Given the description of an element on the screen output the (x, y) to click on. 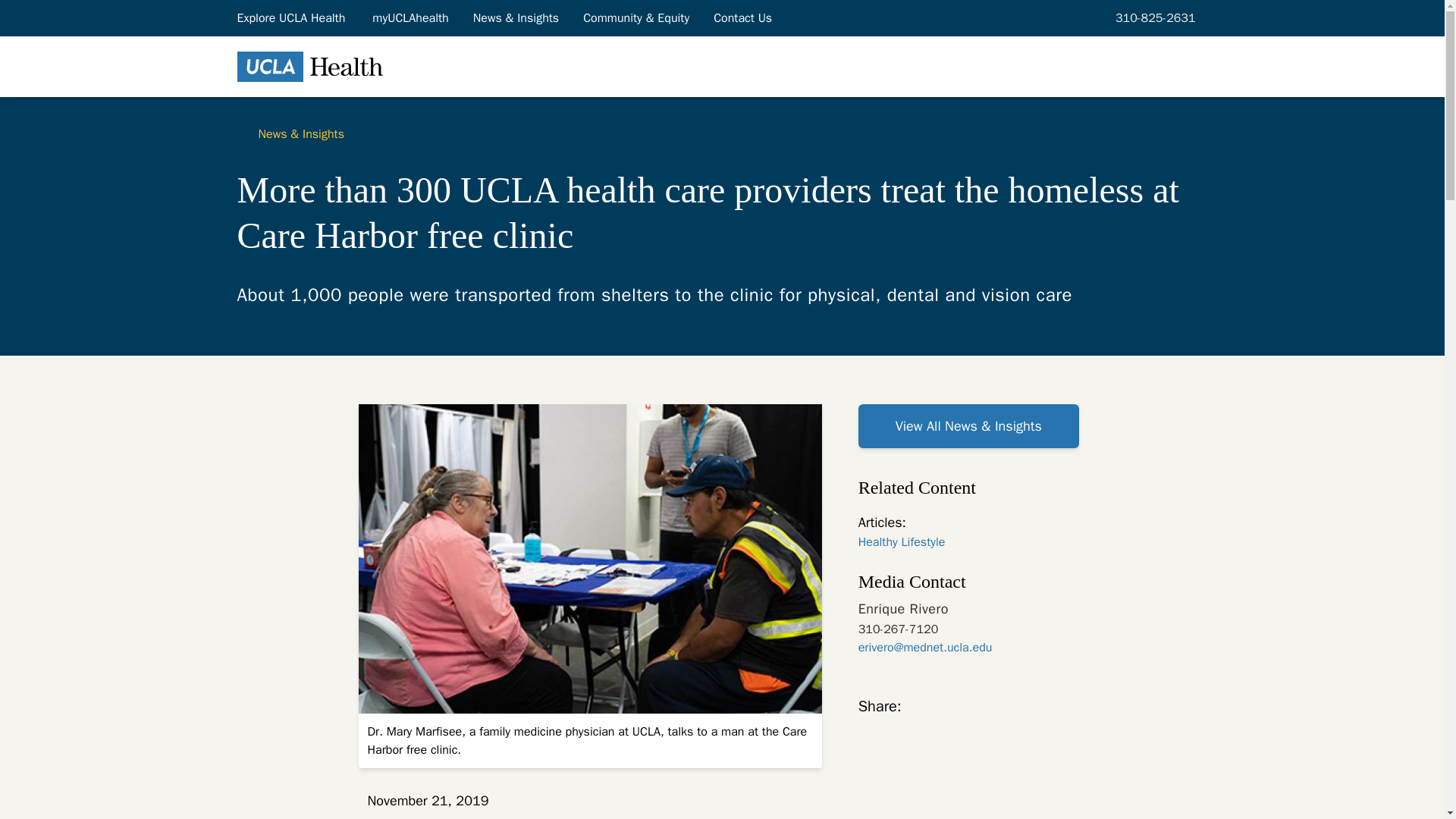
myUCLAhealth Login. (409, 17)
310-825-2631 (1152, 17)
Contact Us (742, 17)
myUCLAhealth (409, 17)
Explore UCLA Health (291, 17)
